Given the description of an element on the screen output the (x, y) to click on. 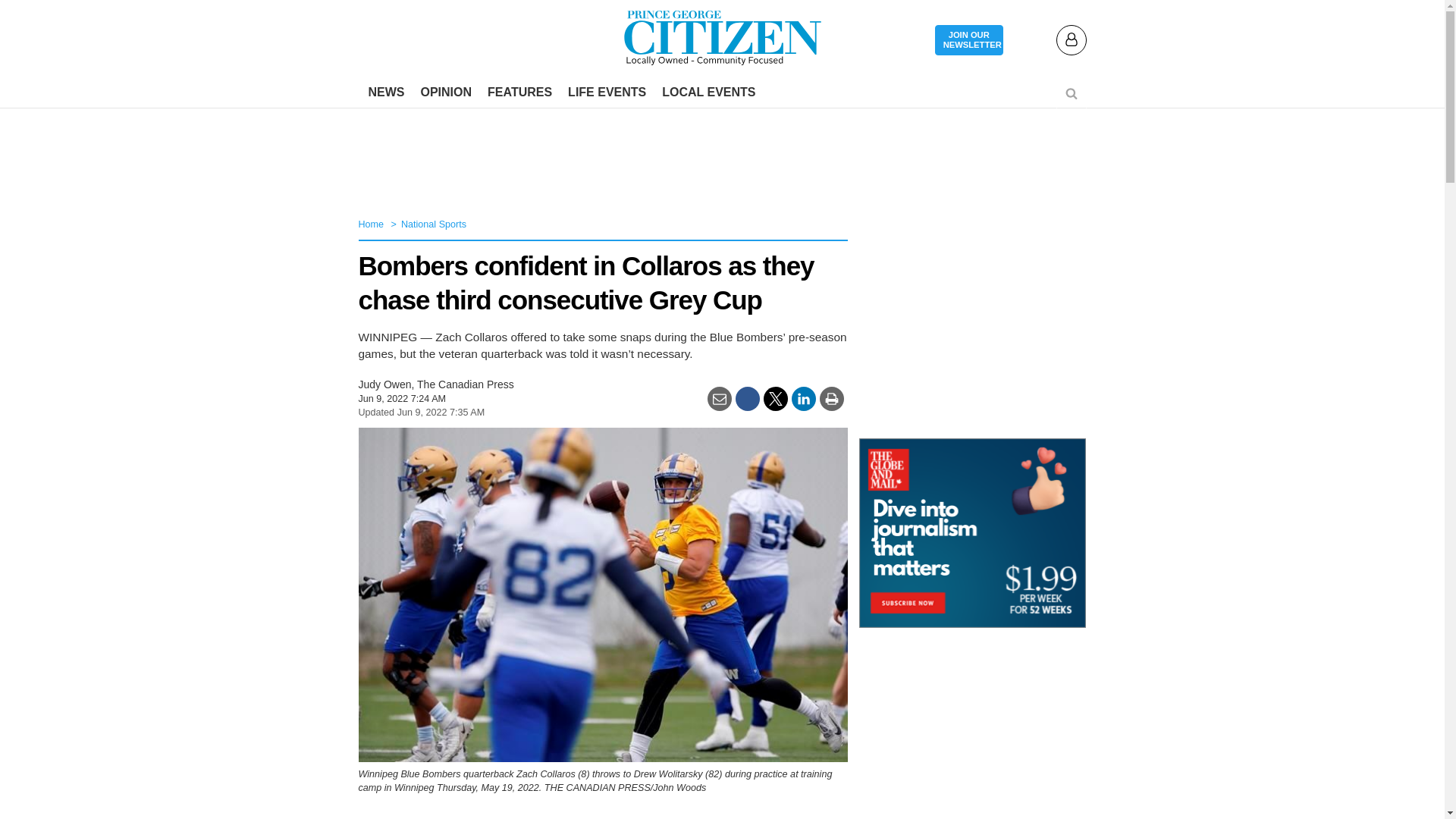
OPINION (445, 92)
JOIN OUR NEWSLETTER (968, 40)
NEWS (386, 92)
